Given the description of an element on the screen output the (x, y) to click on. 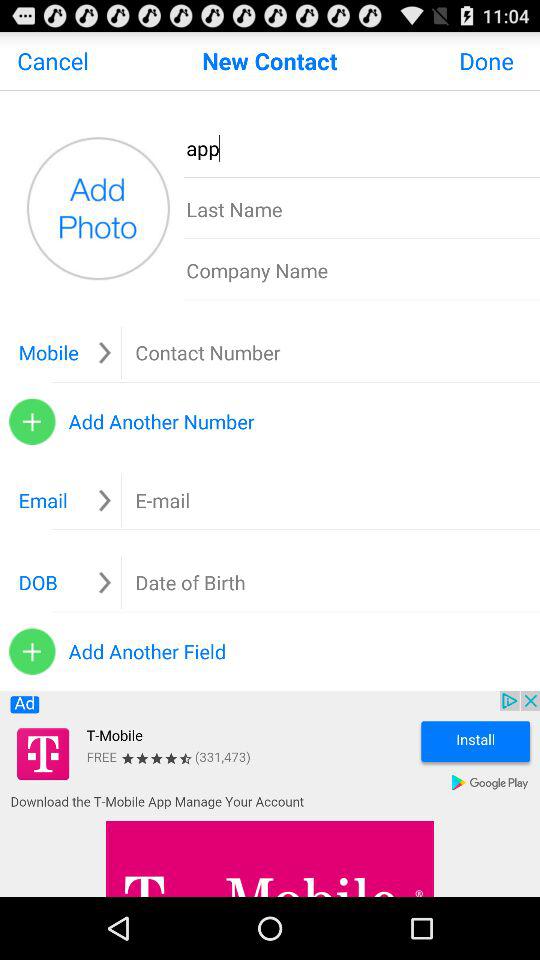
ender contact number box (251, 352)
